Given the description of an element on the screen output the (x, y) to click on. 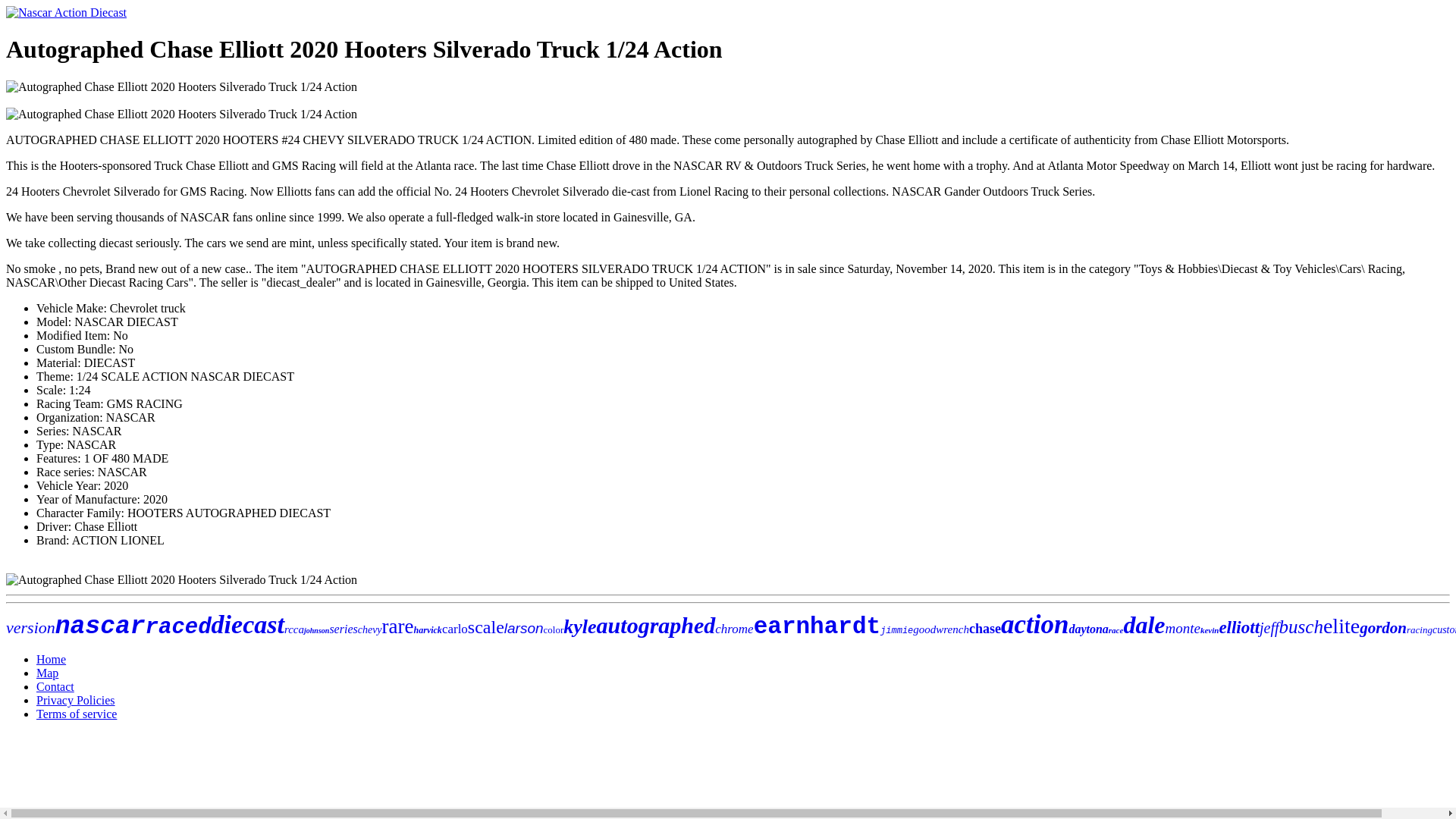
chrome (733, 628)
jimmie (896, 630)
version (30, 627)
monte (1181, 627)
chase (985, 628)
rcca (293, 629)
nascar (100, 626)
carlo (454, 628)
harvick (427, 629)
action (1034, 624)
rare (397, 626)
dale (1143, 624)
earnhardt (817, 626)
race (1116, 629)
daytona (1088, 628)
